Given the description of an element on the screen output the (x, y) to click on. 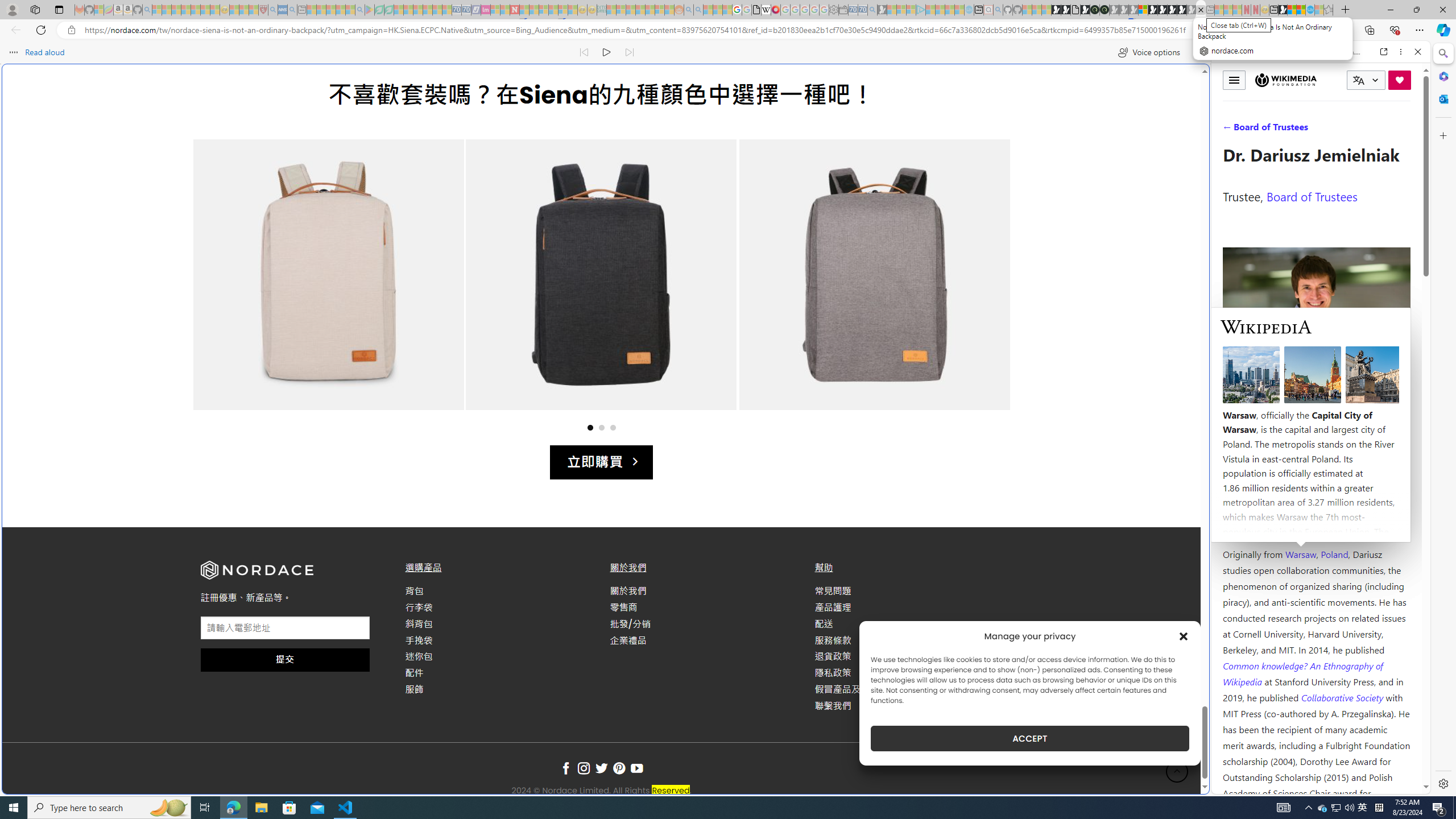
Page dot 1 (589, 427)
Sign in to your account (1143, 9)
Favorites - Sleeping (1328, 9)
